Given the description of an element on the screen output the (x, y) to click on. 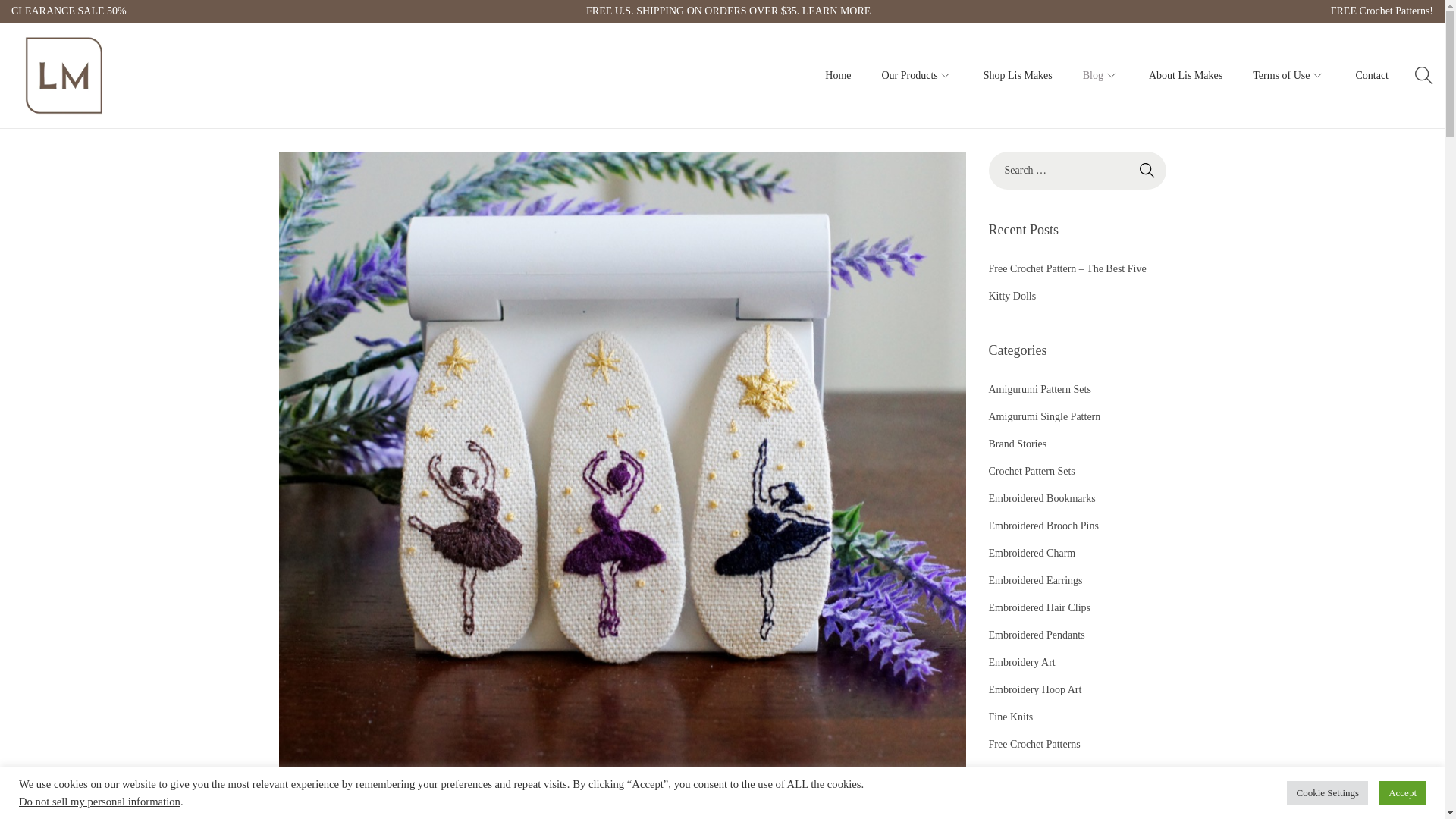
Search (1147, 170)
FREE Crochet Patterns! (1381, 10)
Shop Lis Makes (1018, 74)
Search (1147, 170)
LEARN MORE (836, 10)
About Lis Makes (1185, 74)
Our Products (916, 74)
